Given the description of an element on the screen output the (x, y) to click on. 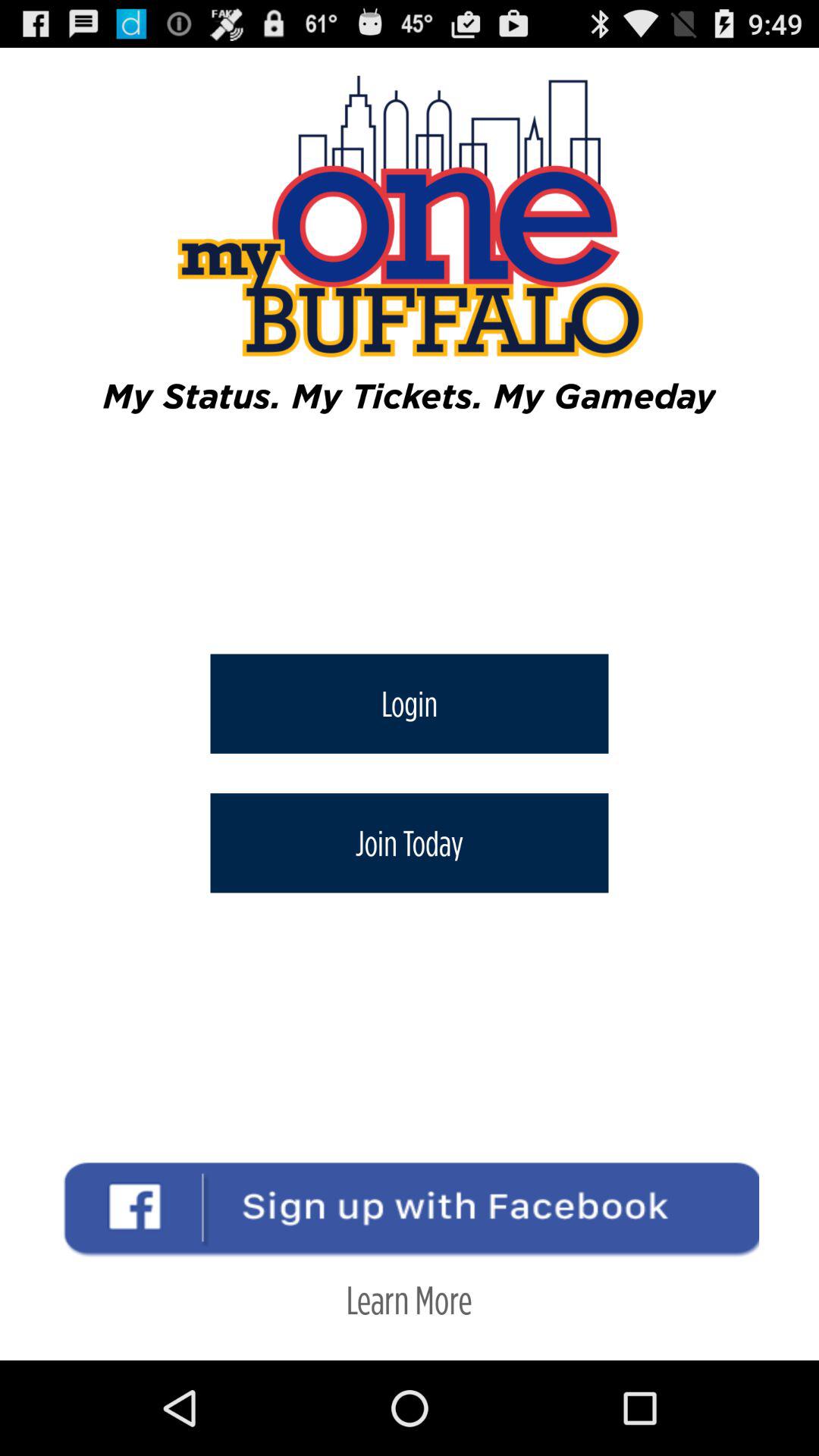
swipe until the learn more item (409, 1299)
